Given the description of an element on the screen output the (x, y) to click on. 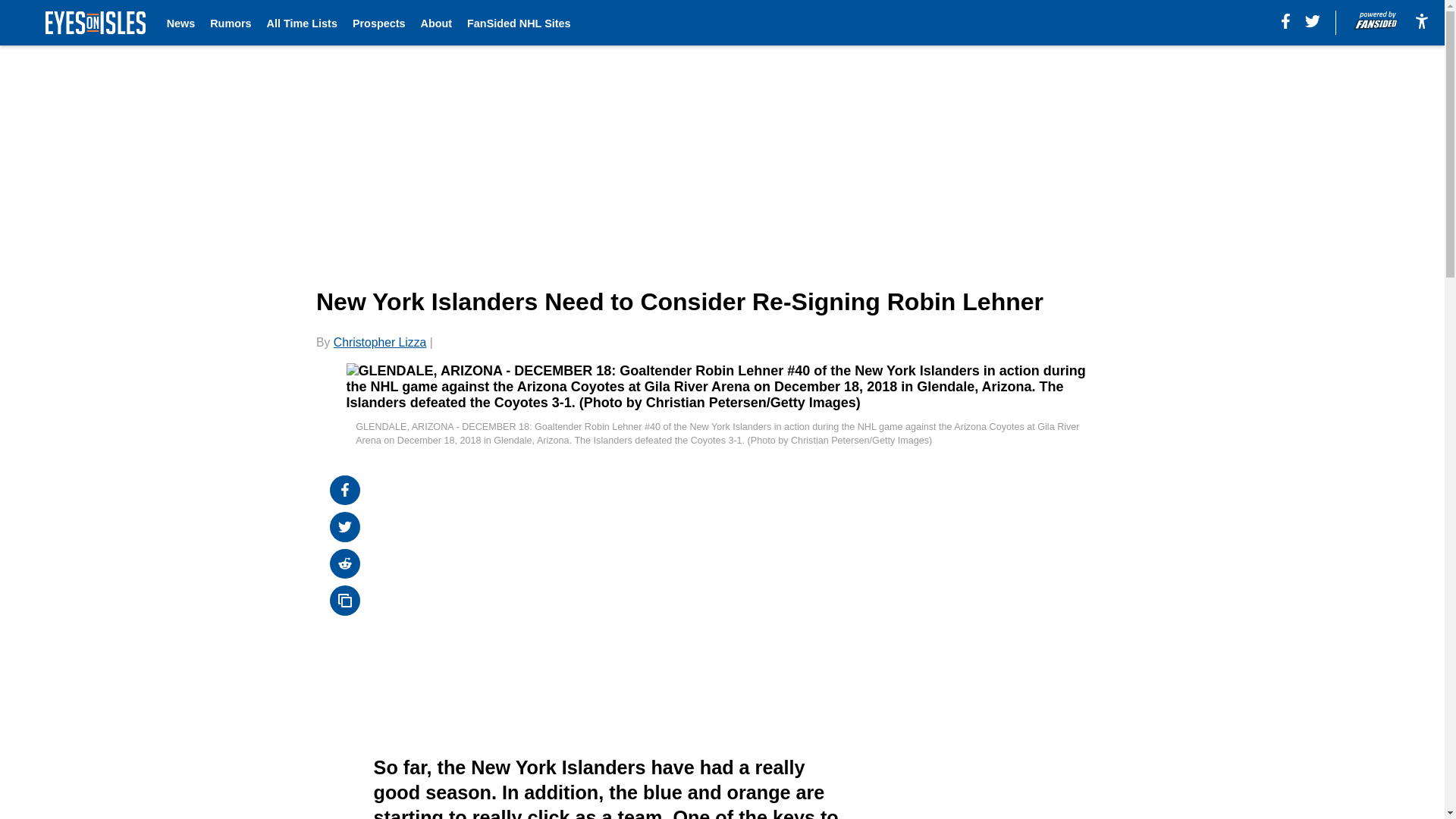
FanSided NHL Sites (518, 23)
About (435, 23)
All Time Lists (301, 23)
Christopher Lizza (379, 341)
Rumors (229, 23)
News (181, 23)
Prospects (379, 23)
